Given the description of an element on the screen output the (x, y) to click on. 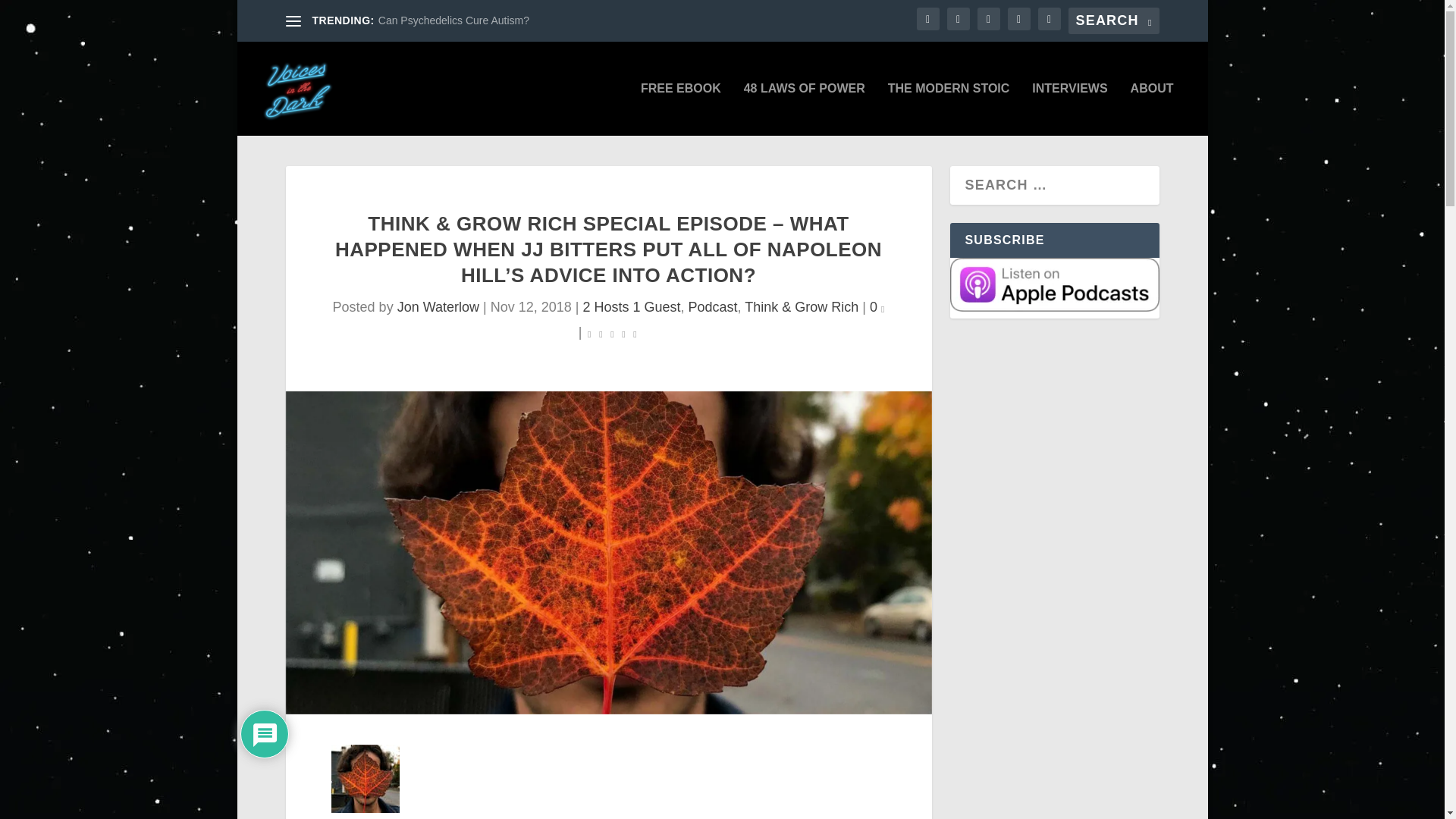
Jon Waterlow (438, 306)
Podcast (713, 306)
48 LAWS OF POWER (804, 108)
Rating: 0.00 (612, 333)
FREE EBOOK (680, 108)
Posts by Jon Waterlow (438, 306)
Can Psychedelics Cure Autism? (453, 20)
2 Hosts 1 Guest (630, 306)
0 (876, 306)
